Given the description of an element on the screen output the (x, y) to click on. 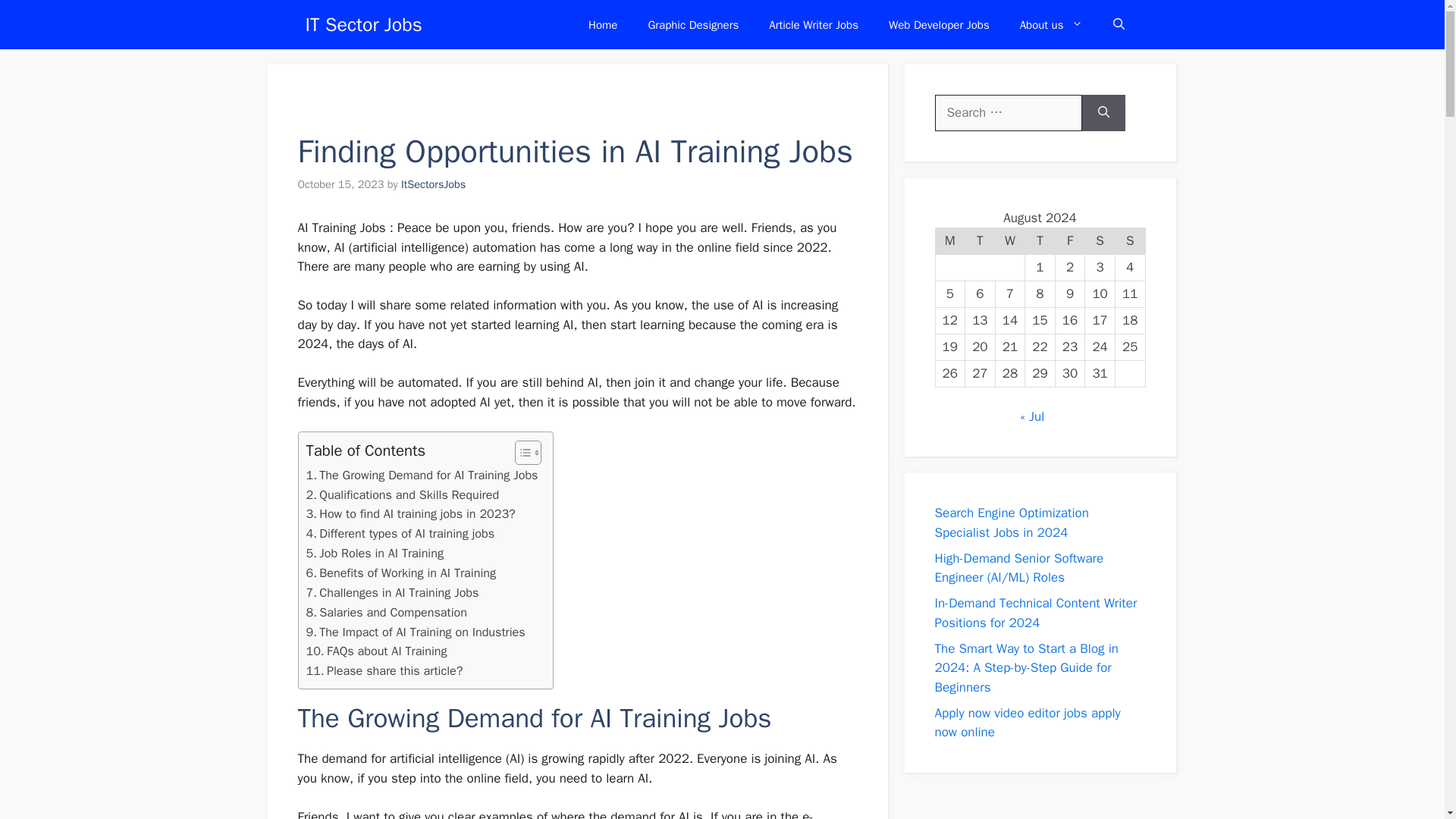
FAQs about AI Training (375, 650)
Different types of AI training jobs (400, 533)
About us (1050, 23)
Article Writer Jobs (813, 23)
Salaries and Compensation (386, 612)
Job Roles in AI Training (374, 553)
View all posts by ItSectorsJobs (433, 183)
How to find AI training jobs in 2023? (410, 514)
The Growing Demand for AI Training Jobs (421, 475)
Benefits of Working in AI Training (400, 573)
IT Sector Jobs (363, 24)
Web Developer Jobs (938, 23)
Please share this article? (384, 670)
The Impact of AI Training on Industries (415, 632)
The Impact of AI Training on Industries (415, 632)
